Given the description of an element on the screen output the (x, y) to click on. 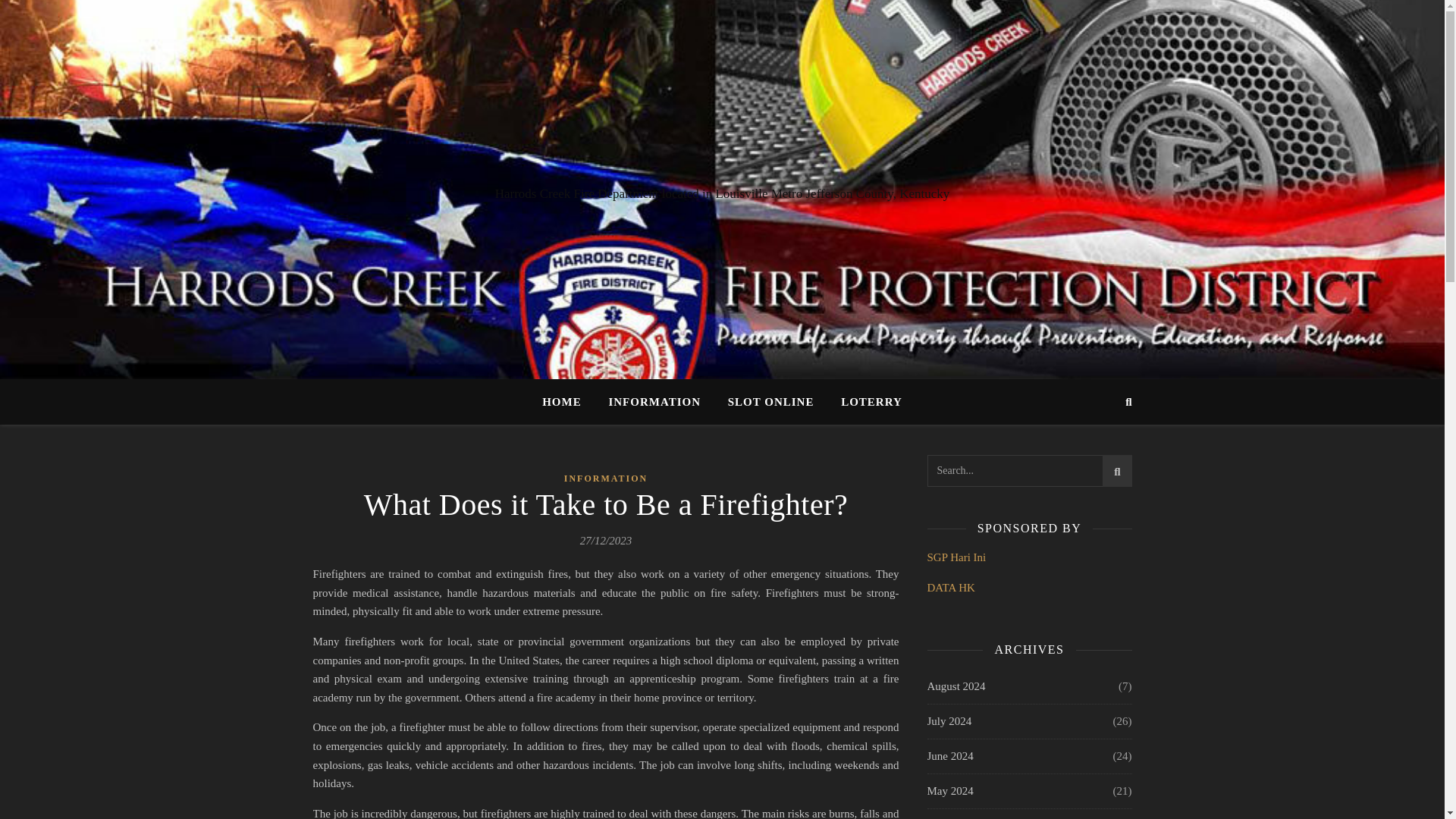
May 2024 (949, 790)
SGP Hari Ini (955, 557)
July 2024 (948, 721)
INFORMATION (605, 478)
August 2024 (955, 686)
April 2024 (950, 814)
INFORMATION (654, 402)
June 2024 (949, 756)
SLOT ONLINE (771, 402)
HOME (567, 402)
